Given the description of an element on the screen output the (x, y) to click on. 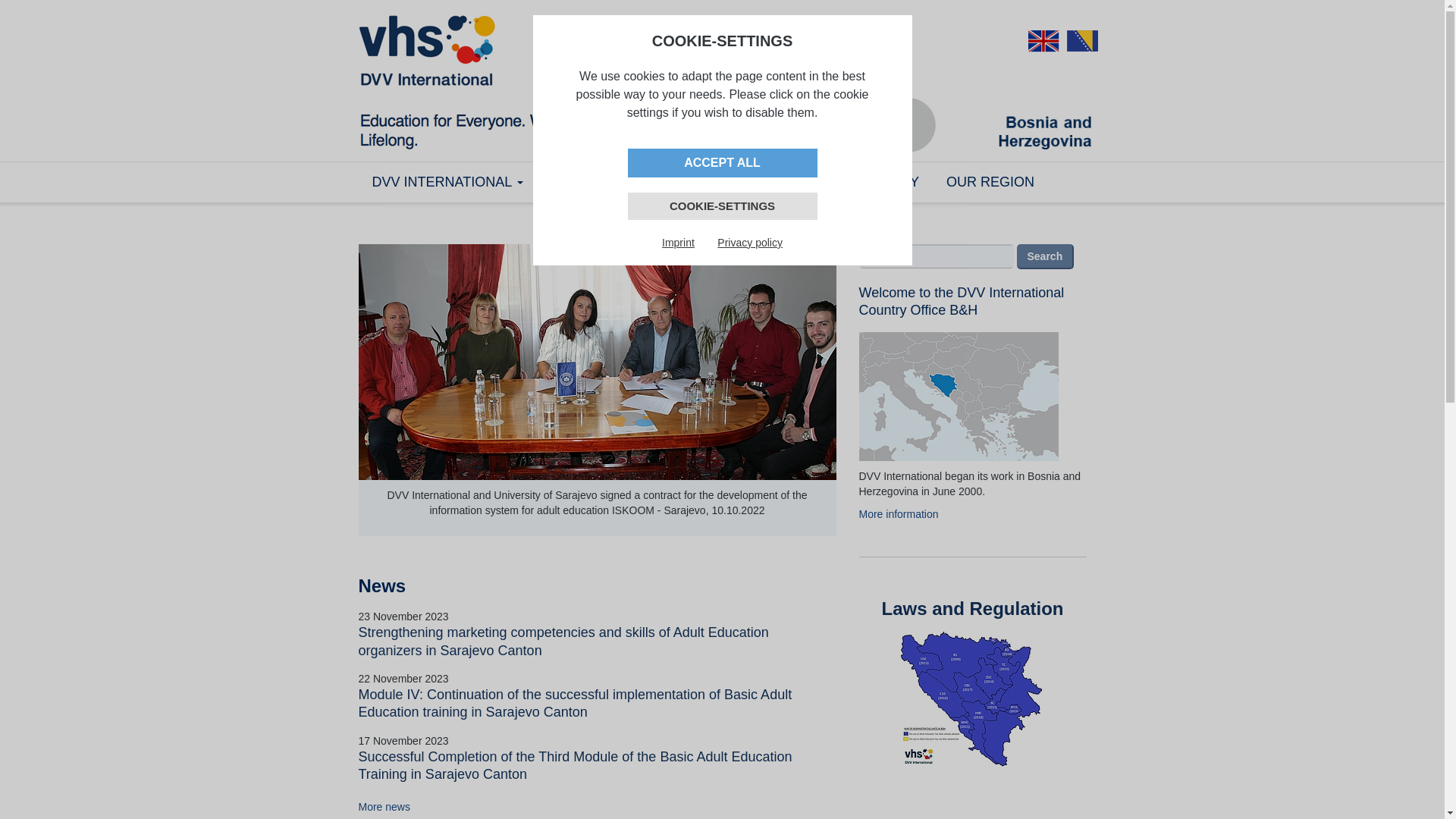
DVV INTERNATIONAL Element type: text (446, 182)
Privacy policy Element type: text (749, 242)
OUR REGION Element type: text (990, 182)
To the Laws and Regulation Element type: hover (972, 699)
PROJECTS Element type: text (672, 182)
Laws and Regulation Element type: text (972, 608)
BS Element type: text (1081, 41)
GALLERY Element type: text (887, 182)
Search Element type: text (1044, 256)
MATERIALS Element type: text (785, 182)
ACCEPT ALL Element type: text (722, 163)
Imprint Element type: text (678, 242)
More information Element type: text (898, 514)
EN Element type: text (1043, 41)
NEWS Element type: text (576, 182)
COOKIE-SETTINGS Element type: text (722, 205)
